Given the description of an element on the screen output the (x, y) to click on. 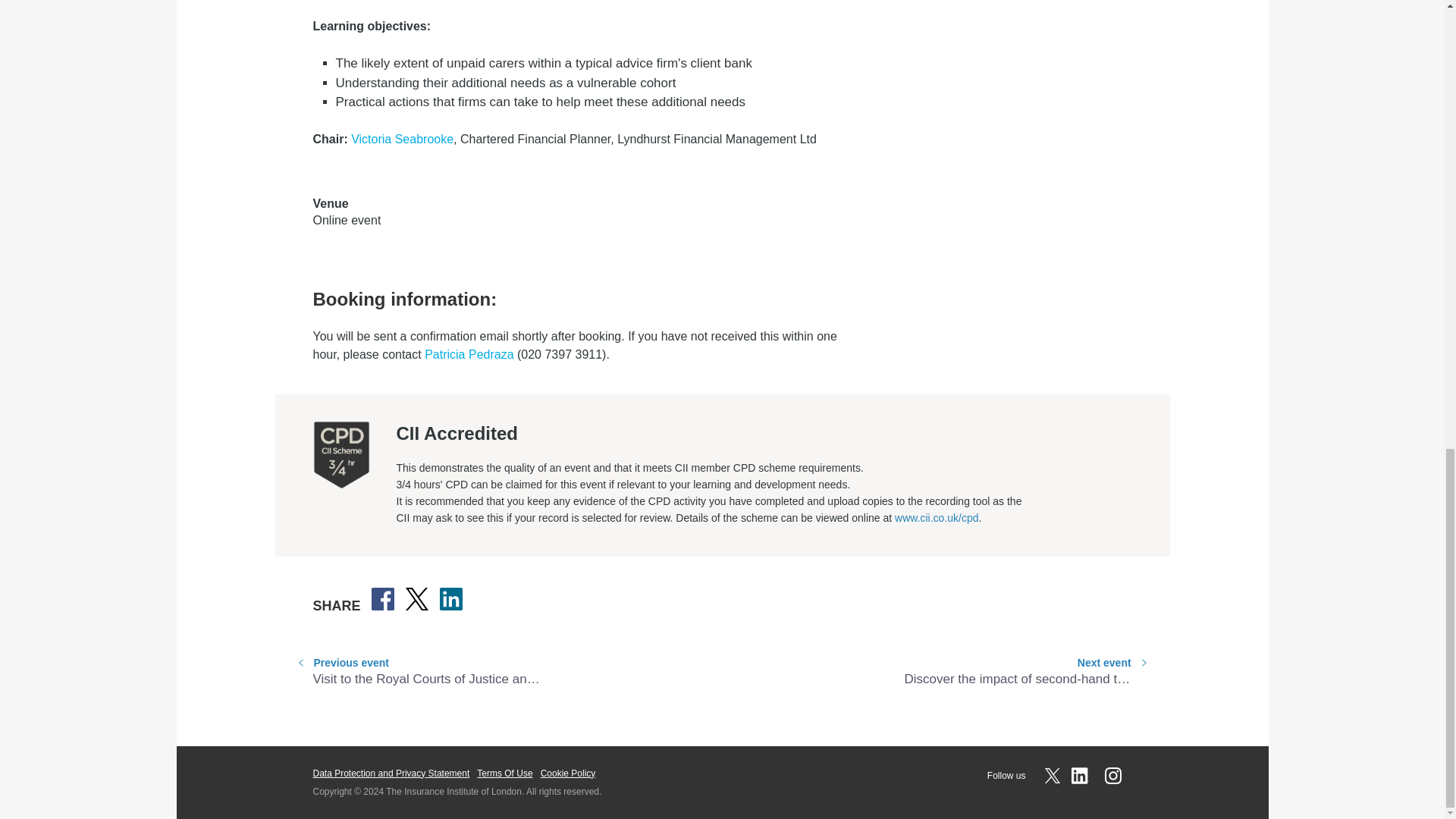
Patricia Pedraza (469, 354)
Victoria Seabrooke (401, 139)
